Given the description of an element on the screen output the (x, y) to click on. 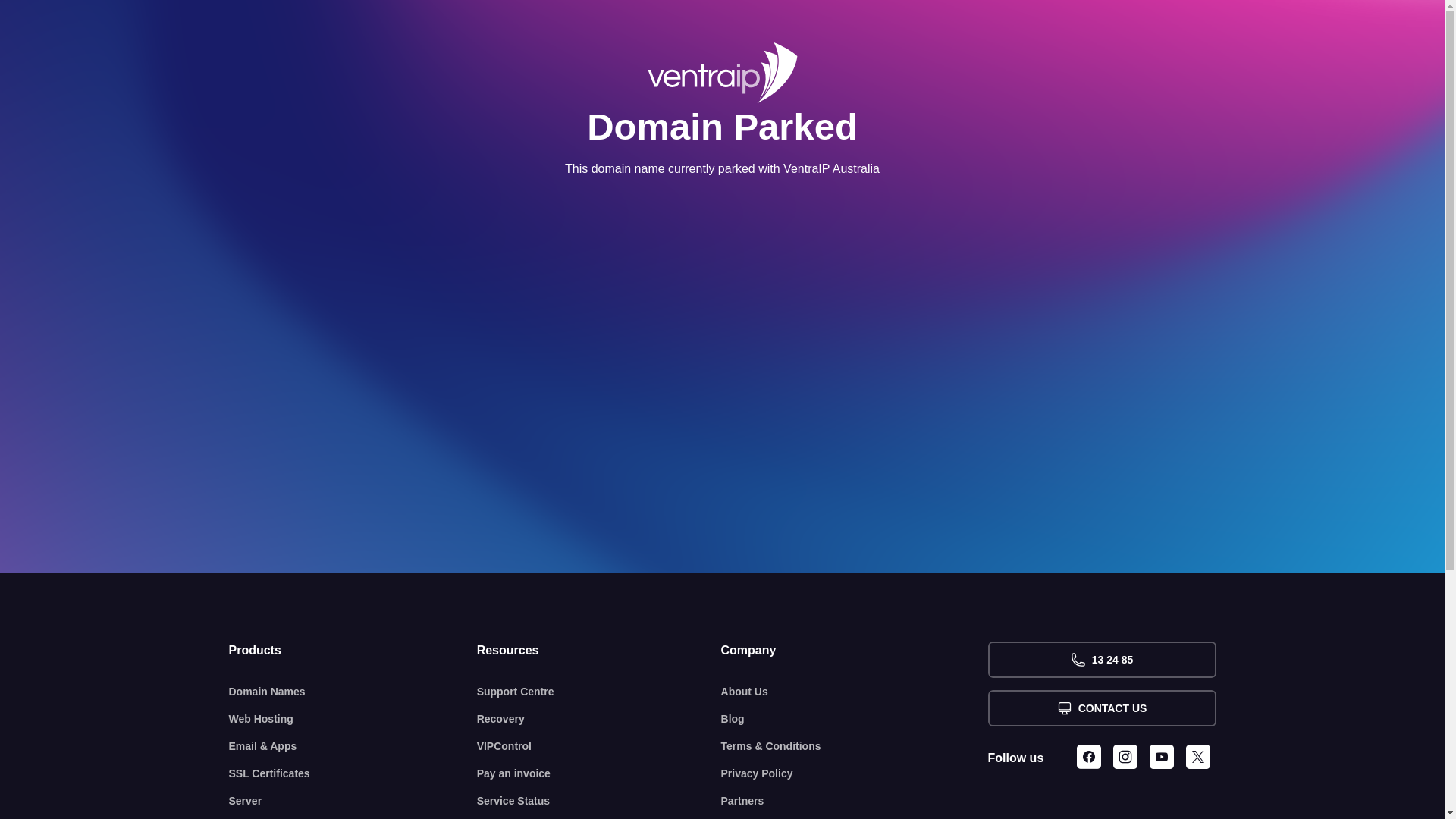
Server Element type: text (352, 800)
VIPControl Element type: text (598, 745)
Pay an invoice Element type: text (598, 773)
Domain Names Element type: text (352, 691)
Privacy Policy Element type: text (854, 773)
Blog Element type: text (854, 718)
Support Centre Element type: text (598, 691)
SSL Certificates Element type: text (352, 773)
Email & Apps Element type: text (352, 745)
Recovery Element type: text (598, 718)
About Us Element type: text (854, 691)
13 24 85 Element type: text (1101, 659)
Web Hosting Element type: text (352, 718)
Partners Element type: text (854, 800)
Terms & Conditions Element type: text (854, 745)
CONTACT US Element type: text (1101, 708)
Service Status Element type: text (598, 800)
